Given the description of an element on the screen output the (x, y) to click on. 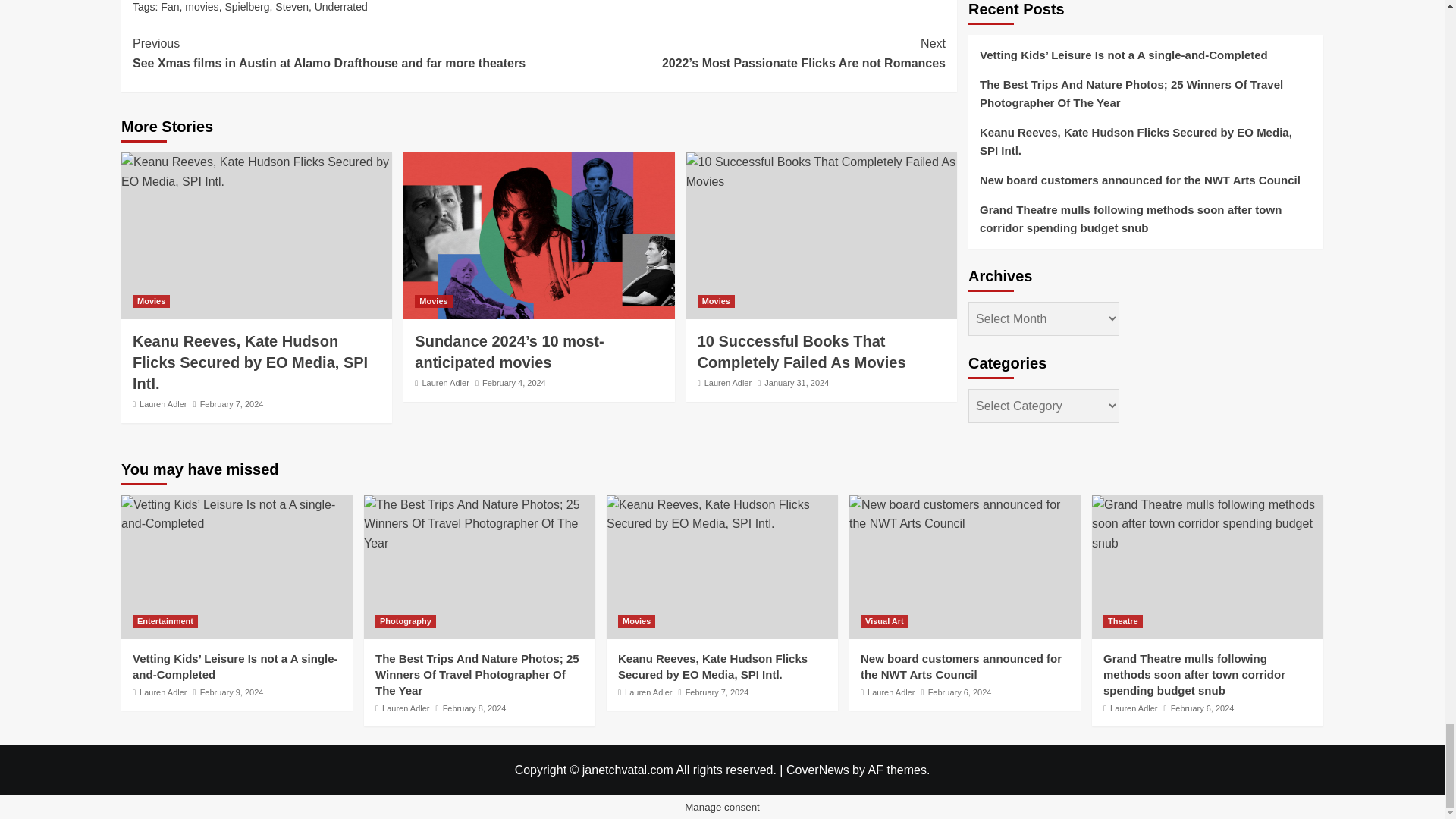
Underrated (341, 6)
movies (201, 6)
Steven (291, 6)
Spielberg (246, 6)
10 Successful Books That Completely Failed As Movies (820, 171)
Fan (169, 6)
